Given the description of an element on the screen output the (x, y) to click on. 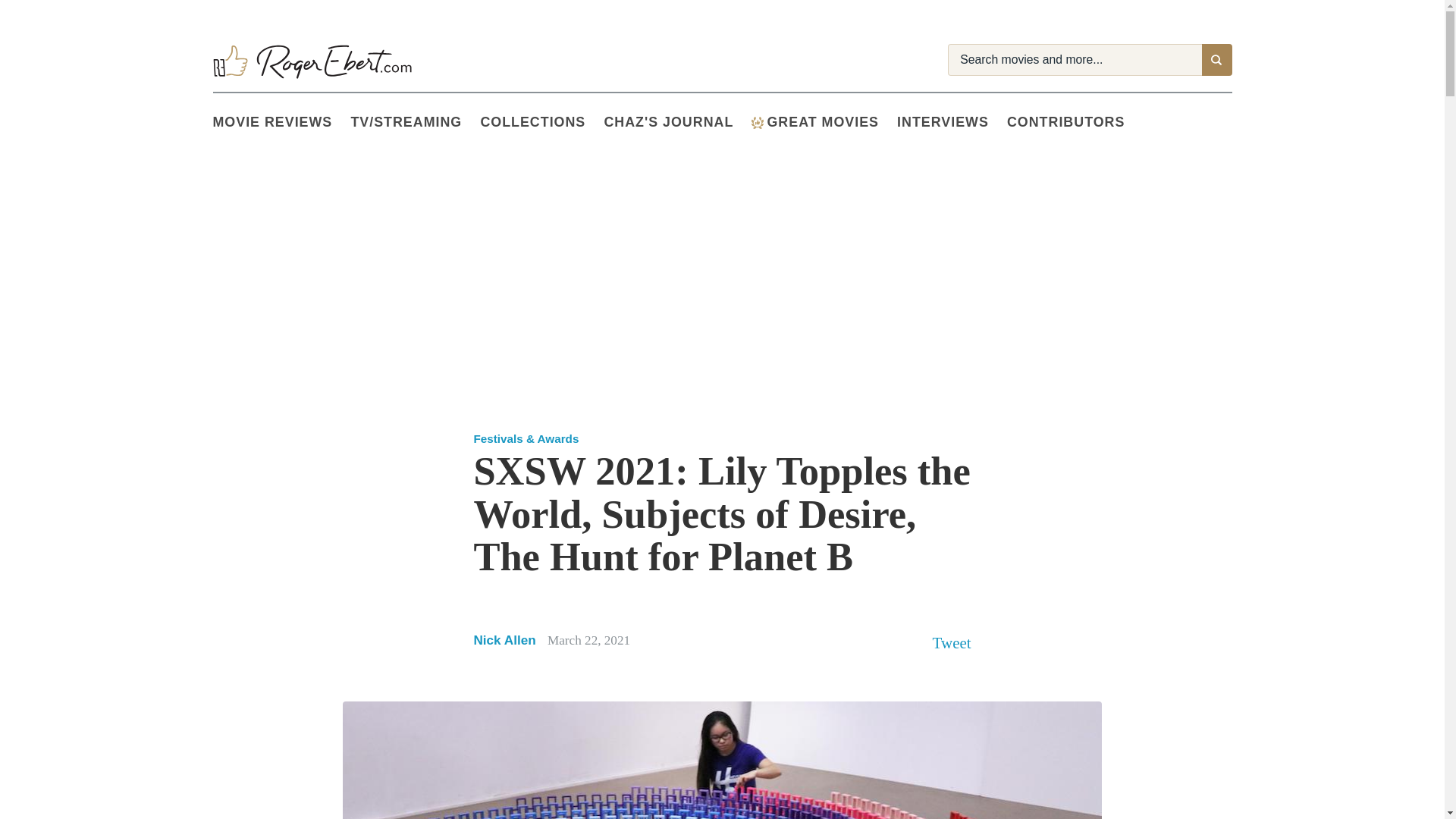
Collections (542, 122)
Contributors (1074, 122)
GREAT MOVIES (823, 122)
INTERVIEWS (951, 122)
Great Movies (823, 122)
Great Movies (756, 122)
Nick Allen (504, 639)
Chaz's Journal (677, 122)
Search (1216, 60)
CHAZ'S JOURNAL (677, 122)
Interviews (951, 122)
COLLECTIONS (542, 122)
Movie Reviews (281, 122)
Tweet (952, 642)
CONTRIBUTORS (1074, 122)
